Given the description of an element on the screen output the (x, y) to click on. 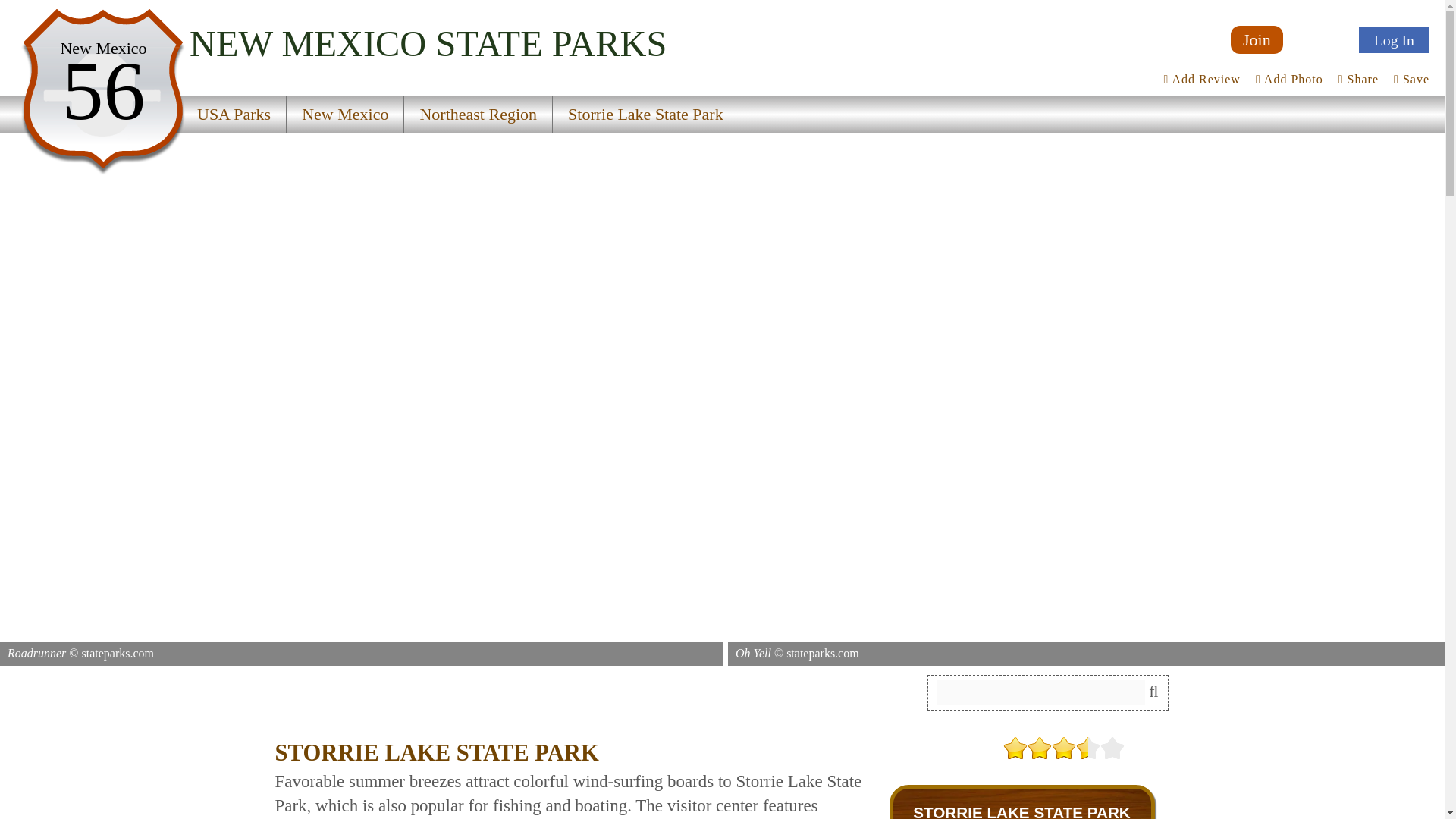
Log In (1393, 40)
Share (1358, 78)
Add Review (1201, 78)
STORRIE LAKE STATE PARK (1021, 811)
Save (1411, 78)
Advertisement (448, 697)
Add Photo (1289, 78)
Join (1256, 39)
